Given the description of an element on the screen output the (x, y) to click on. 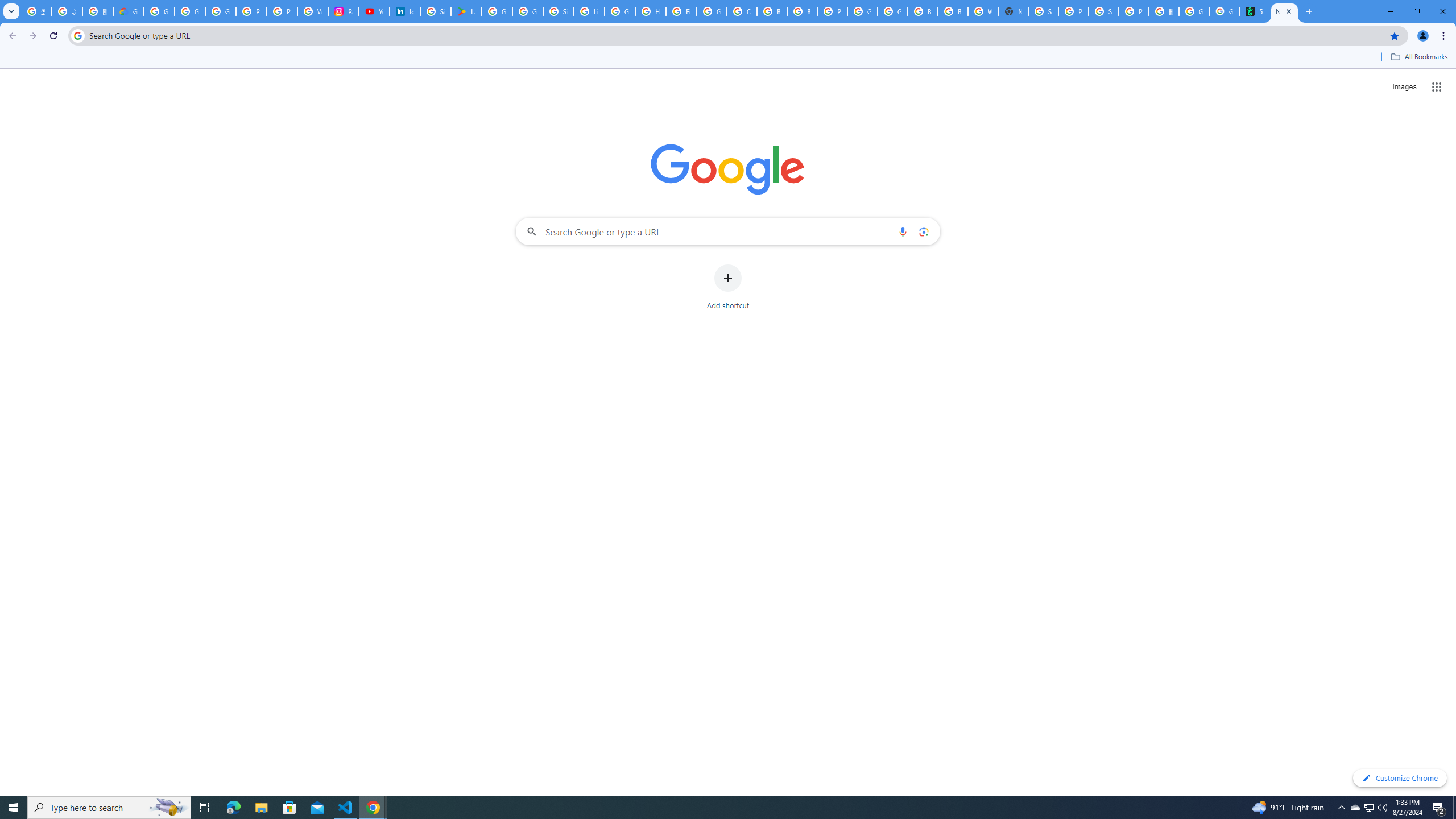
Sign in - Google Accounts (558, 11)
Google Workspace - Specific Terms (527, 11)
How do I create a new Google Account? - Google Account Help (650, 11)
